Given the description of an element on the screen output the (x, y) to click on. 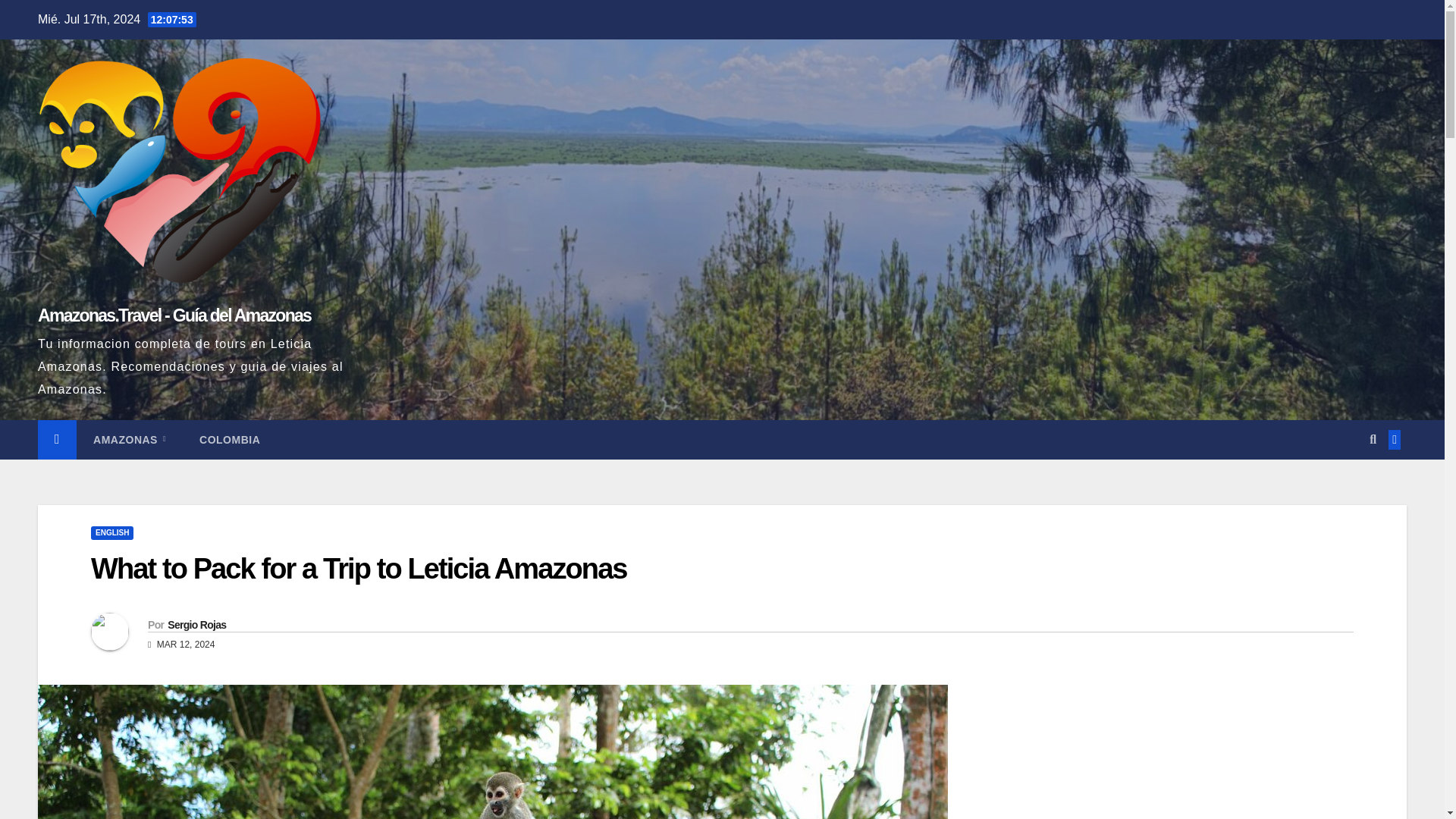
Amazonas (130, 439)
Sergio Rojas (196, 624)
COLOMBIA (229, 439)
What to Pack for a Trip to Leticia Amazonas (358, 568)
Colombia (229, 439)
ENGLISH (111, 532)
AMAZONAS (130, 439)
